Given the description of an element on the screen output the (x, y) to click on. 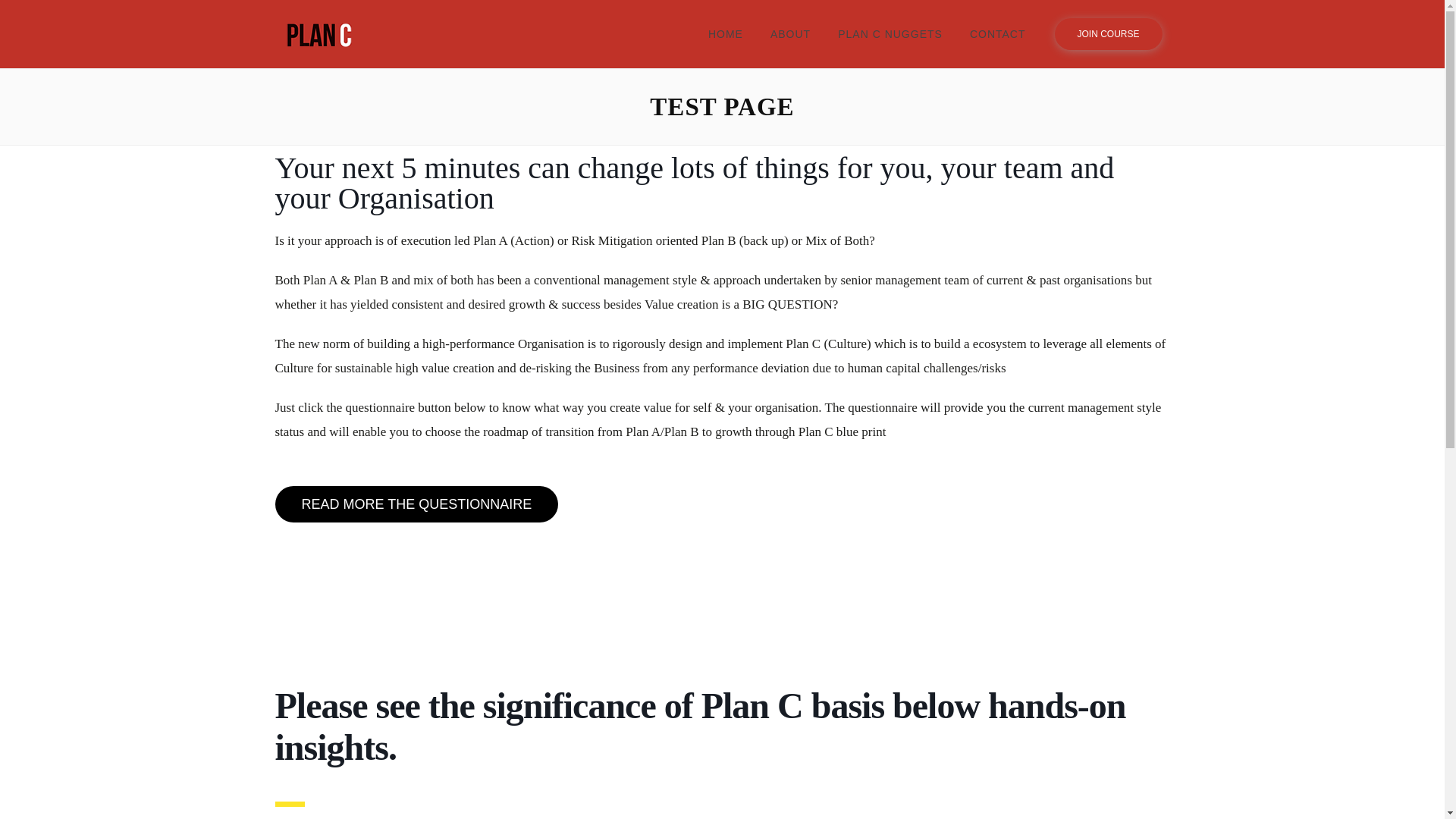
READ MORE THE QUESTIONNAIRE (416, 504)
PLAN C NUGGETS (890, 33)
JOIN COURSE (1107, 33)
CONTACT (997, 33)
HOME (725, 33)
ABOUT (790, 33)
